Given the description of an element on the screen output the (x, y) to click on. 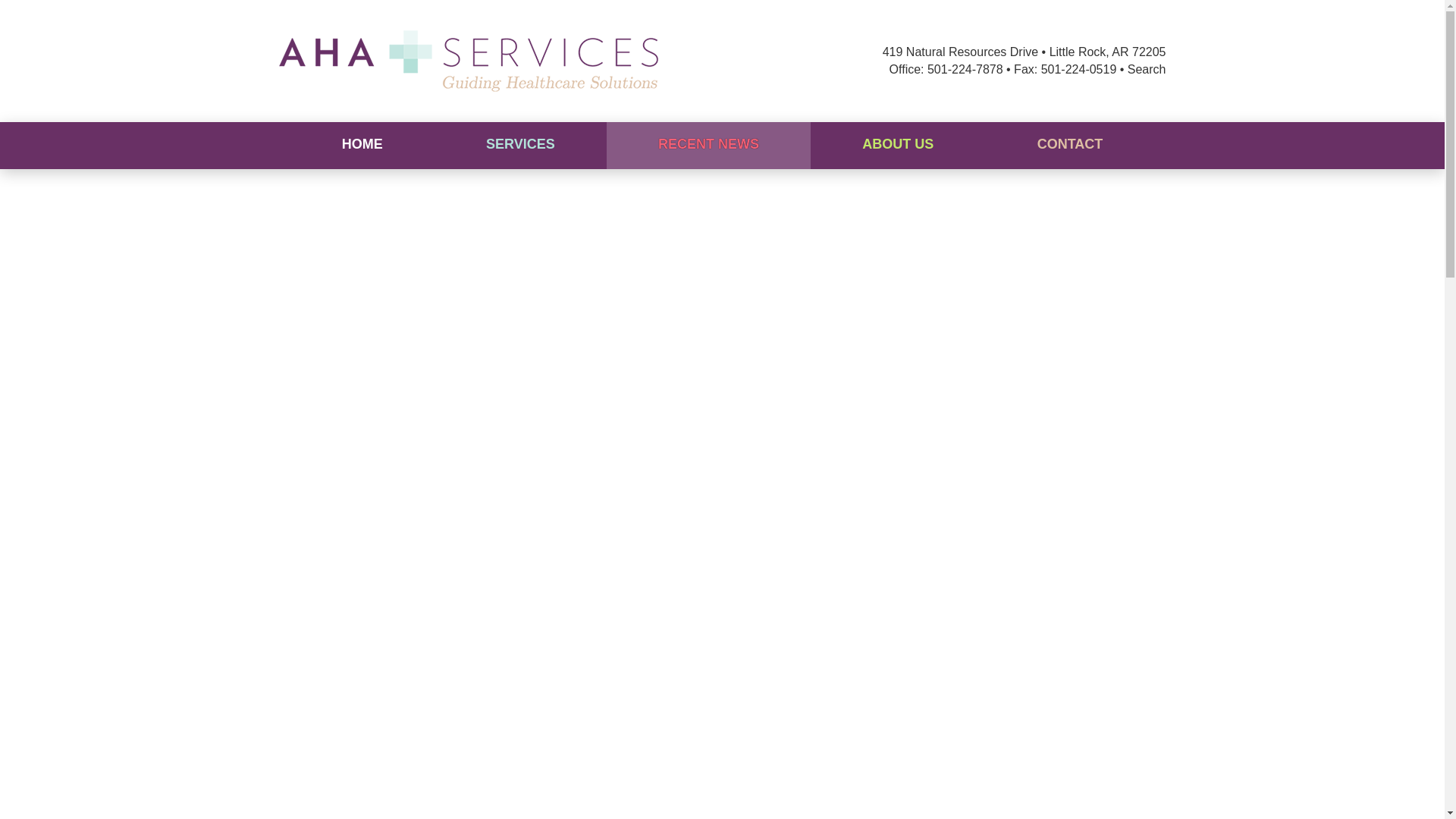
HOME (361, 145)
SERVICES (520, 145)
ABOUT US (897, 145)
RECENT NEWS (708, 145)
Search (1146, 68)
CONTACT (1069, 145)
